Given the description of an element on the screen output the (x, y) to click on. 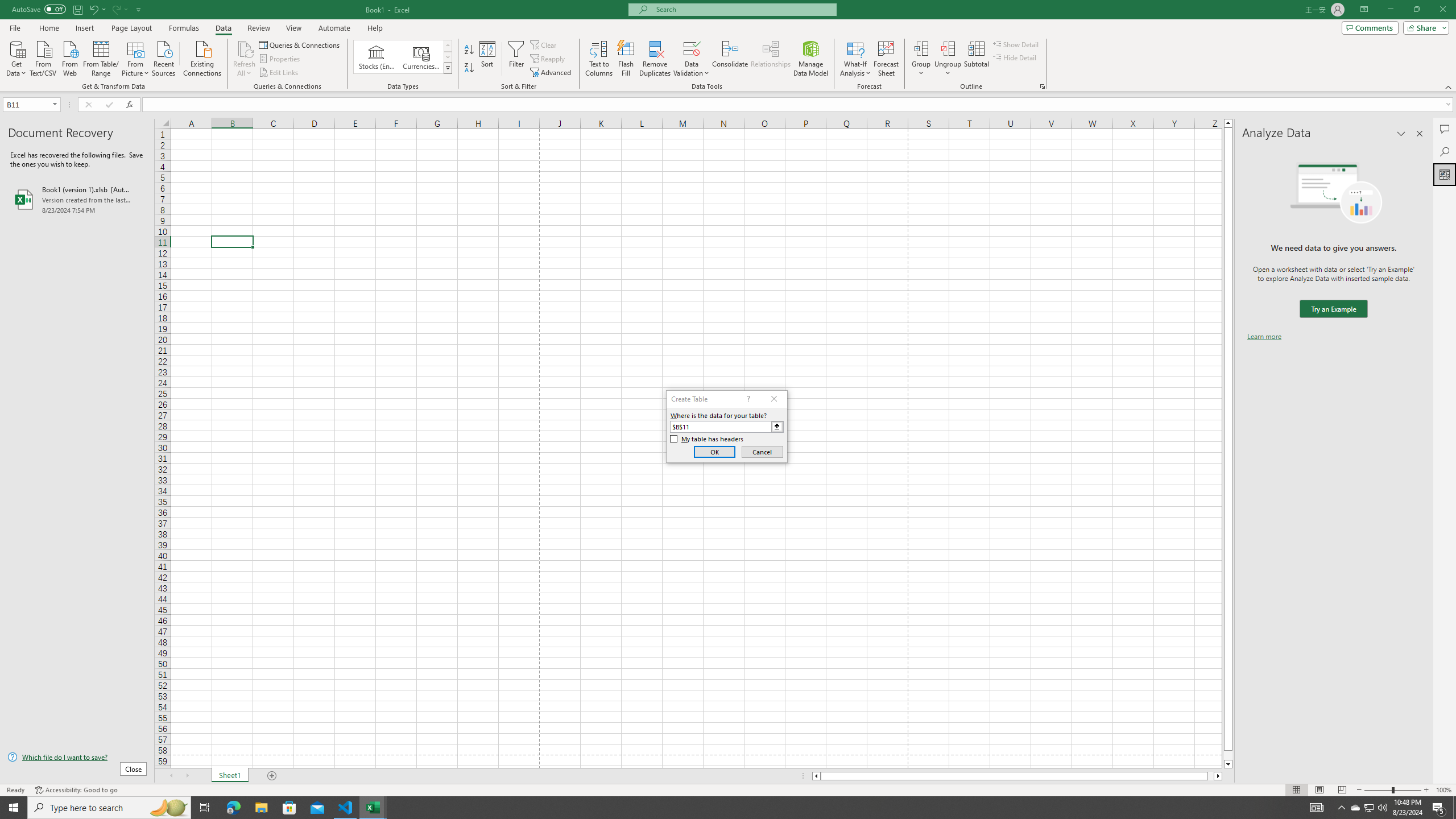
AutomationID: ConvertToLinkedEntity (403, 56)
Reapply (548, 58)
Edit Links (279, 72)
Currencies (English) (420, 56)
Group and Outline Settings (1042, 85)
Consolidate... (729, 58)
We need data to give you answers. Try an Example (1333, 308)
